Given the description of an element on the screen output the (x, y) to click on. 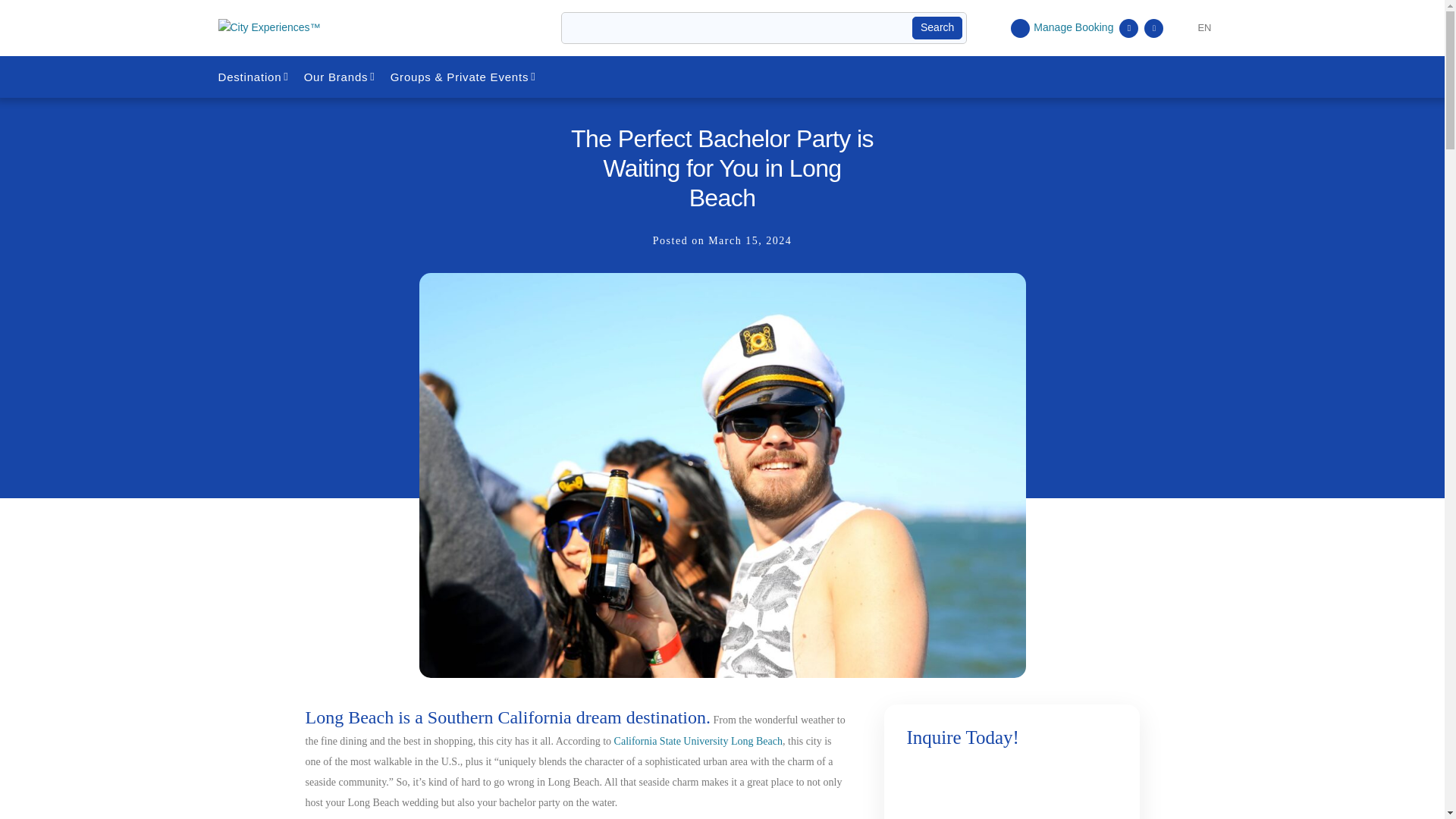
Destination (255, 76)
Search (937, 27)
Manage Booking (1061, 27)
